Given the description of an element on the screen output the (x, y) to click on. 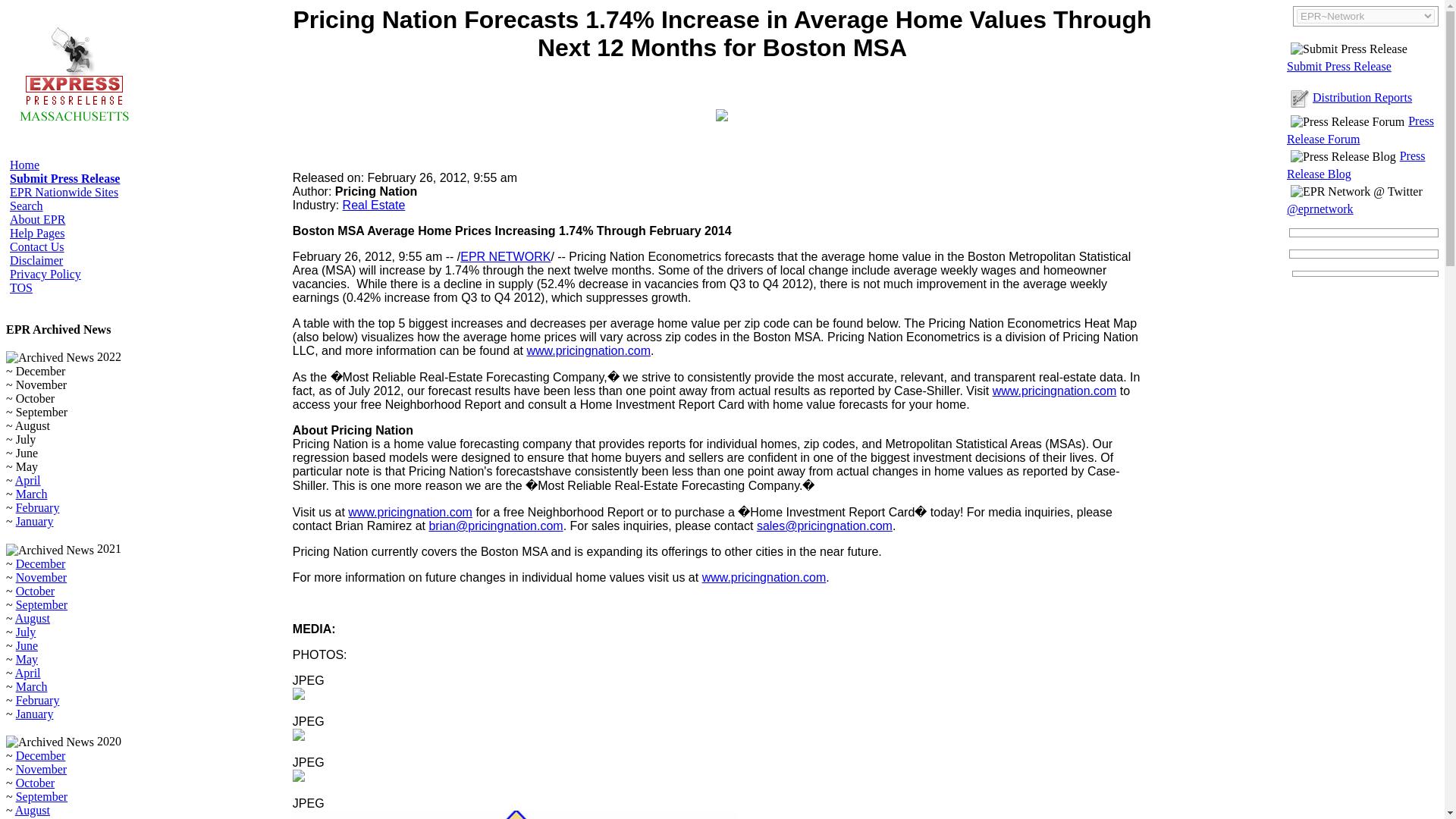
July (26, 631)
September (41, 796)
April (27, 480)
Home (24, 164)
January (34, 713)
March (32, 493)
Help Pages (37, 232)
August (31, 809)
TOS (21, 287)
August (31, 617)
July (26, 818)
Contact Us (37, 246)
Privacy Policy (45, 273)
October (35, 782)
January (34, 521)
